Given the description of an element on the screen output the (x, y) to click on. 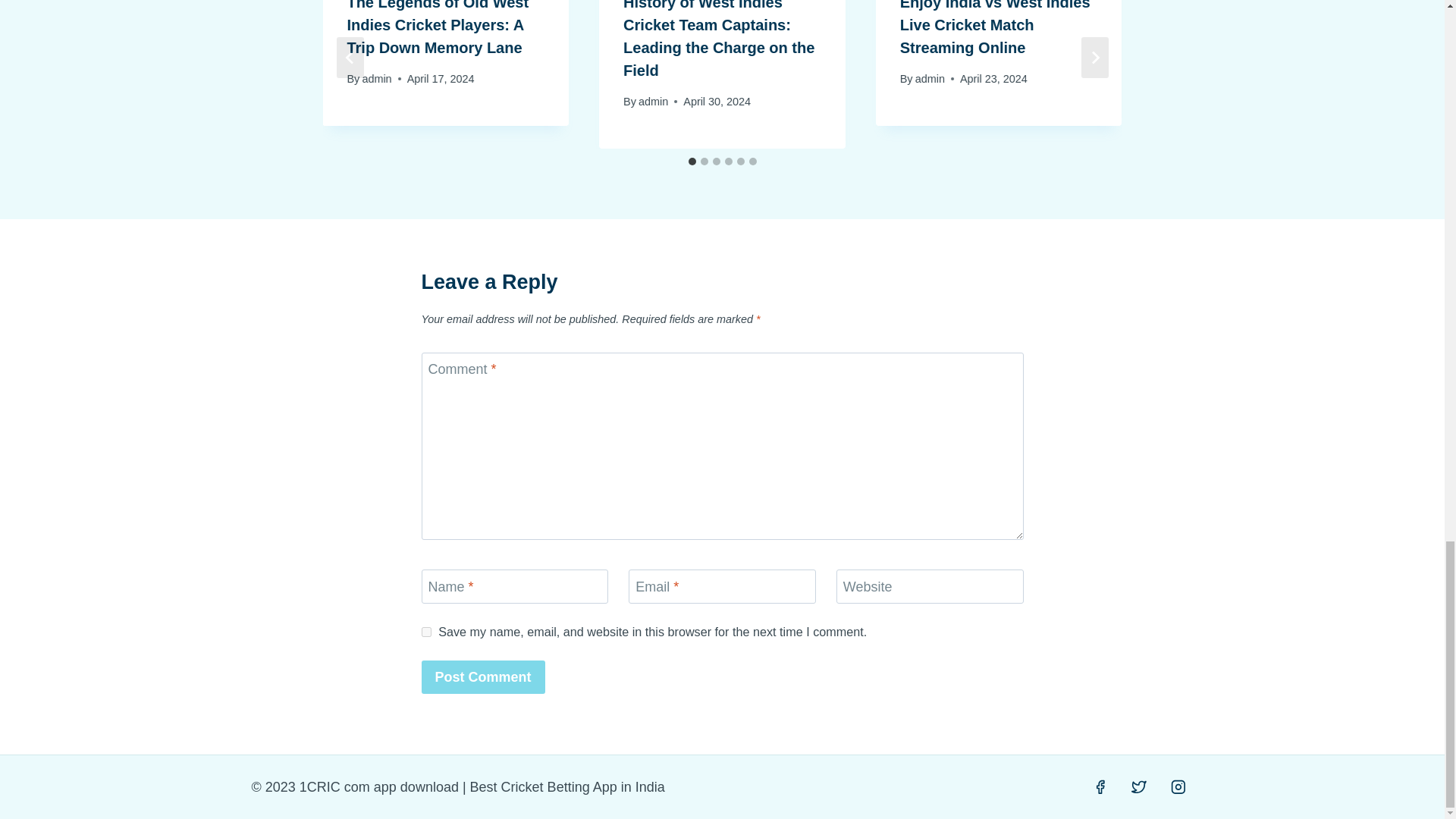
yes (426, 632)
Post Comment (483, 676)
